Given the description of an element on the screen output the (x, y) to click on. 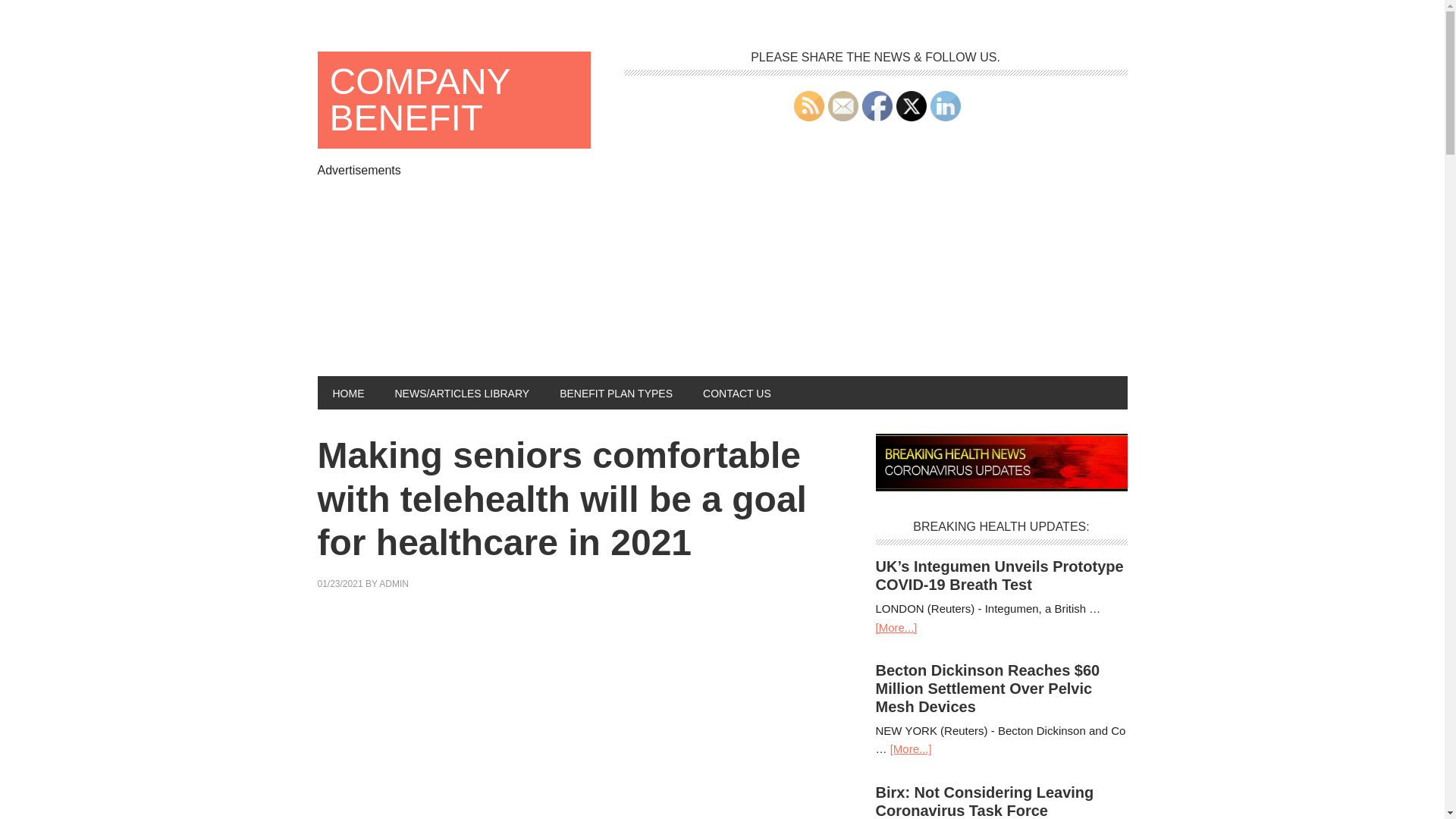
LinkedIn (945, 105)
RSS (808, 105)
CONTACT US (736, 392)
Follow by Email (843, 105)
BENEFIT PLAN TYPES (615, 392)
Twitter (911, 105)
Facebook (876, 105)
COMPANY BENEFIT (453, 99)
ADMIN (393, 583)
HOME (347, 392)
Birx: Not Considering Leaving Coronavirus Task Force (984, 801)
